Given the description of an element on the screen output the (x, y) to click on. 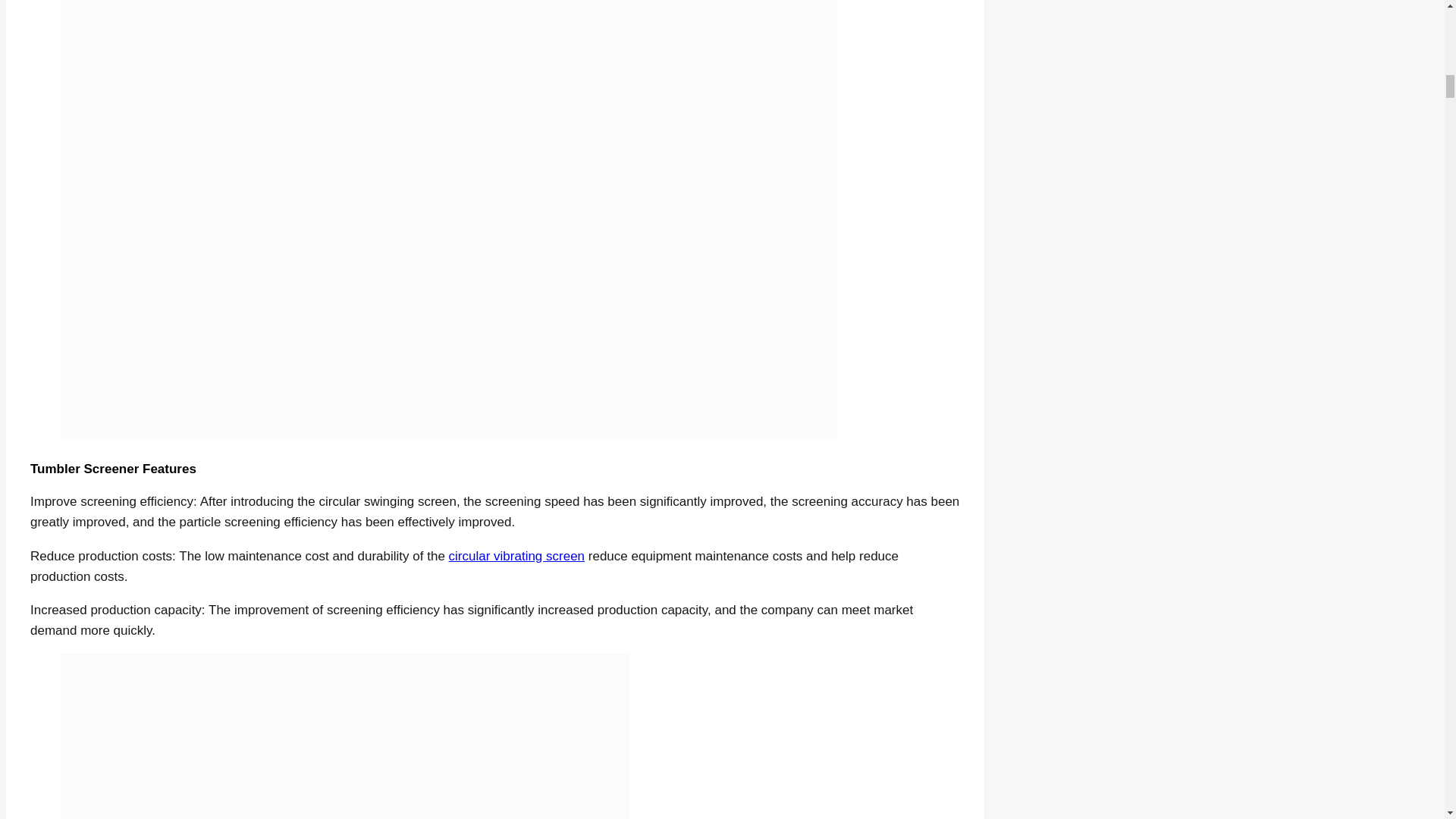
circular vibrating screen (516, 555)
